Given the description of an element on the screen output the (x, y) to click on. 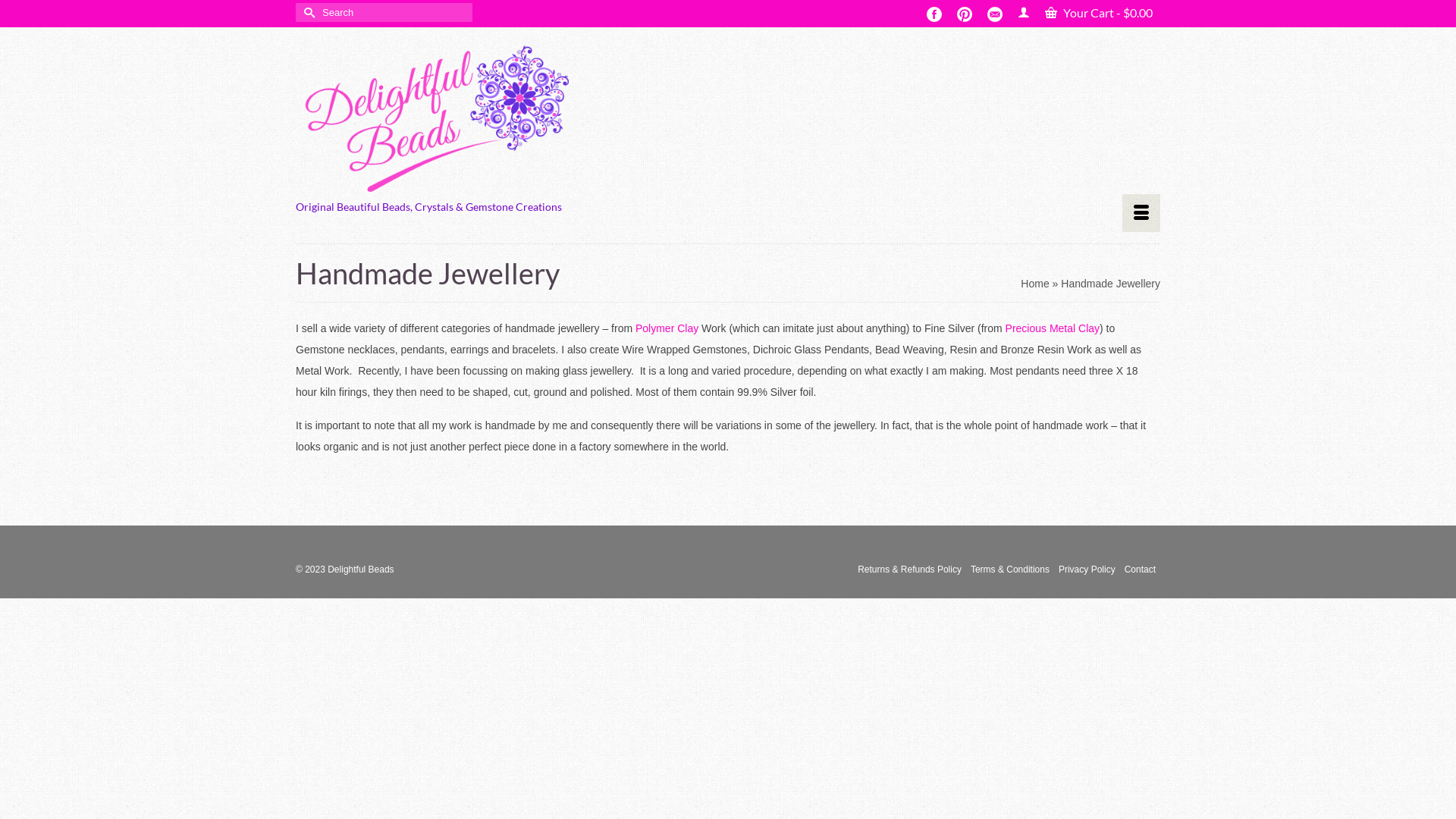
Terms & Conditions Element type: text (1010, 569)
Your Cart - $0.00 Element type: text (1098, 12)
Precious Metal Clay Element type: text (1052, 328)
Contact Element type: text (1140, 569)
Delightful Beads Element type: hover (431, 113)
Returns & Refunds Policy Element type: text (909, 569)
Polymer Clay Element type: text (666, 328)
Home Element type: text (1034, 283)
Privacy Policy Element type: text (1087, 569)
Menu Element type: hover (1141, 213)
